Given the description of an element on the screen output the (x, y) to click on. 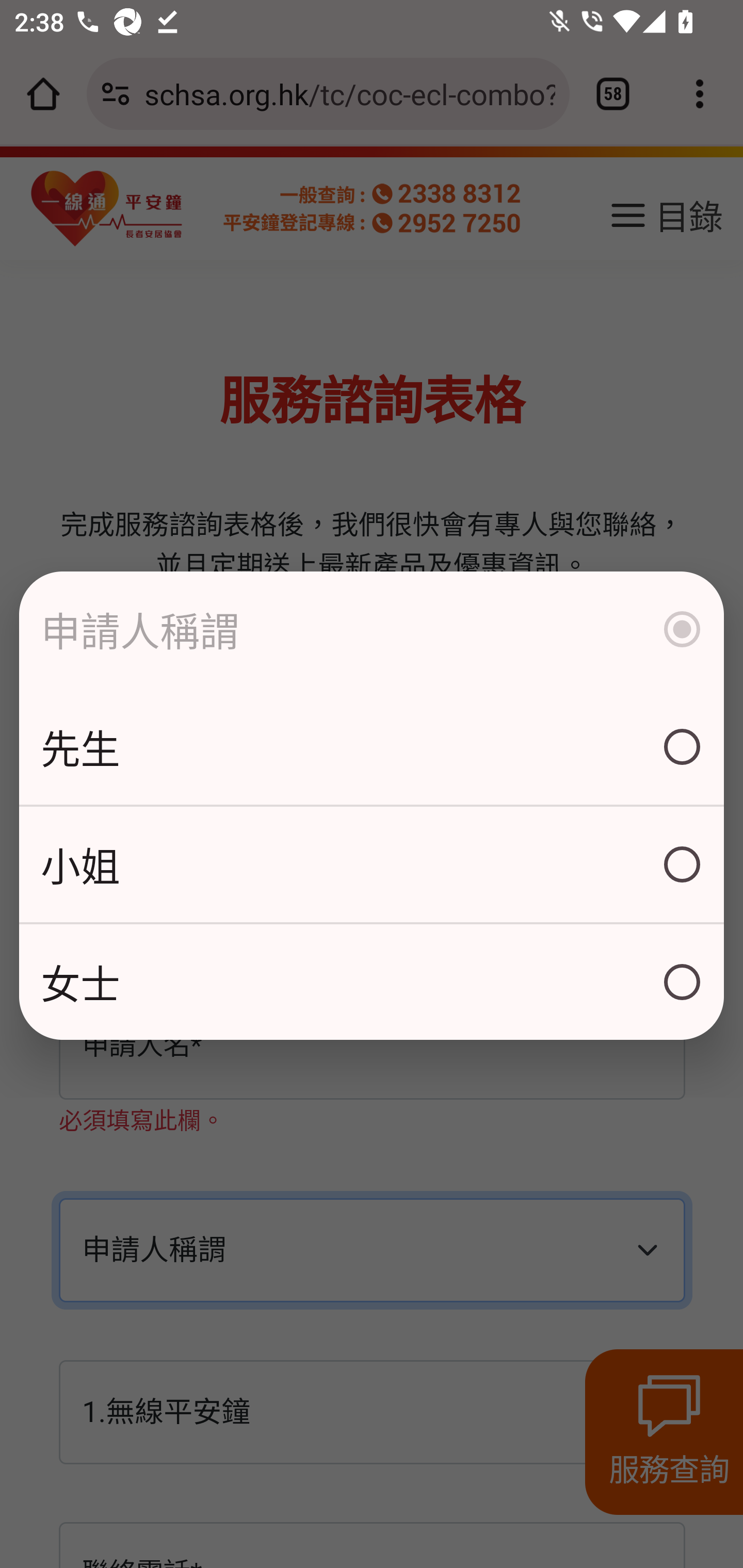
先生 (371, 746)
小姐 (371, 863)
女士 (371, 981)
